Given the description of an element on the screen output the (x, y) to click on. 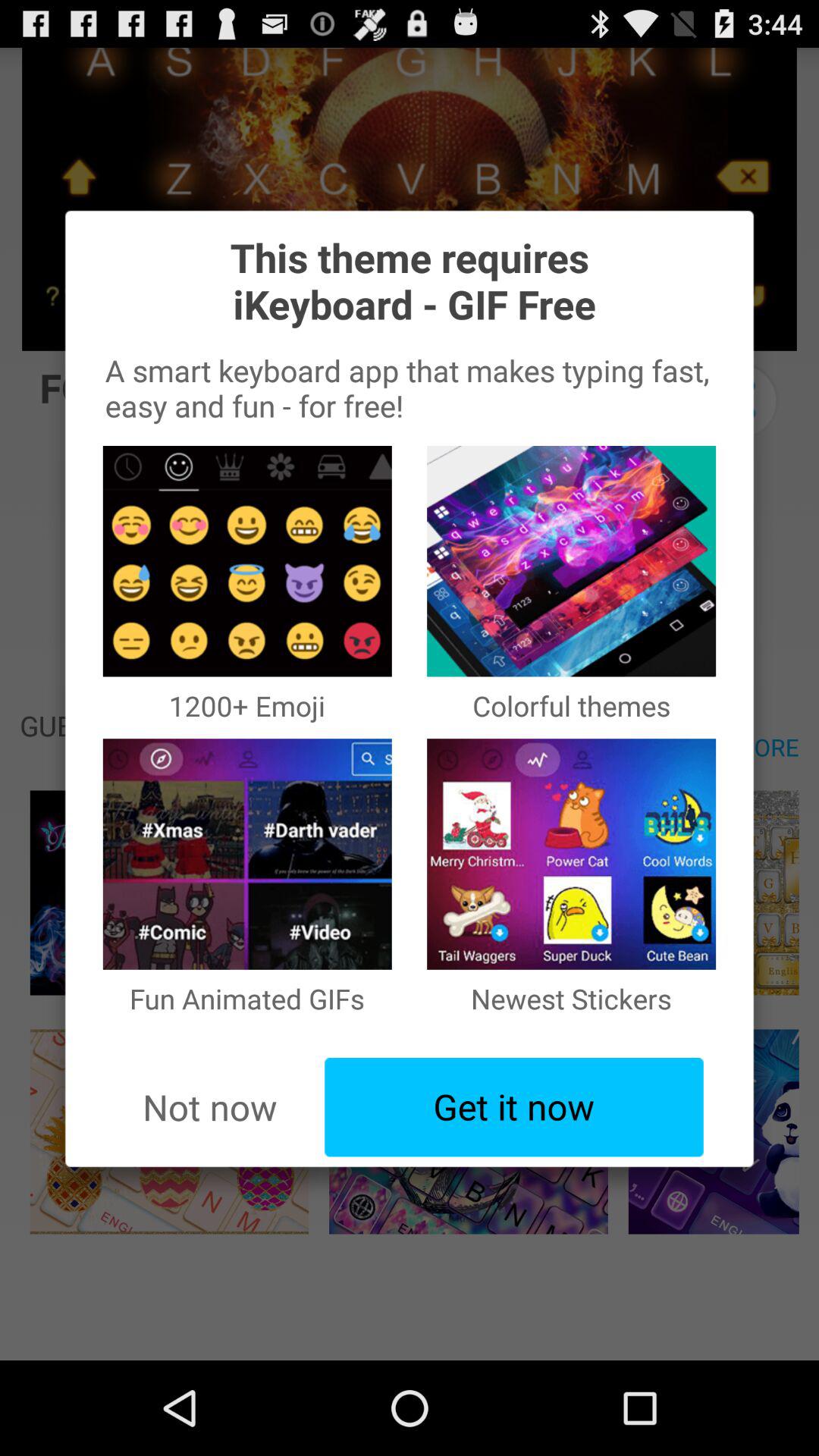
tap the button next to the not now button (513, 1106)
